Given the description of an element on the screen output the (x, y) to click on. 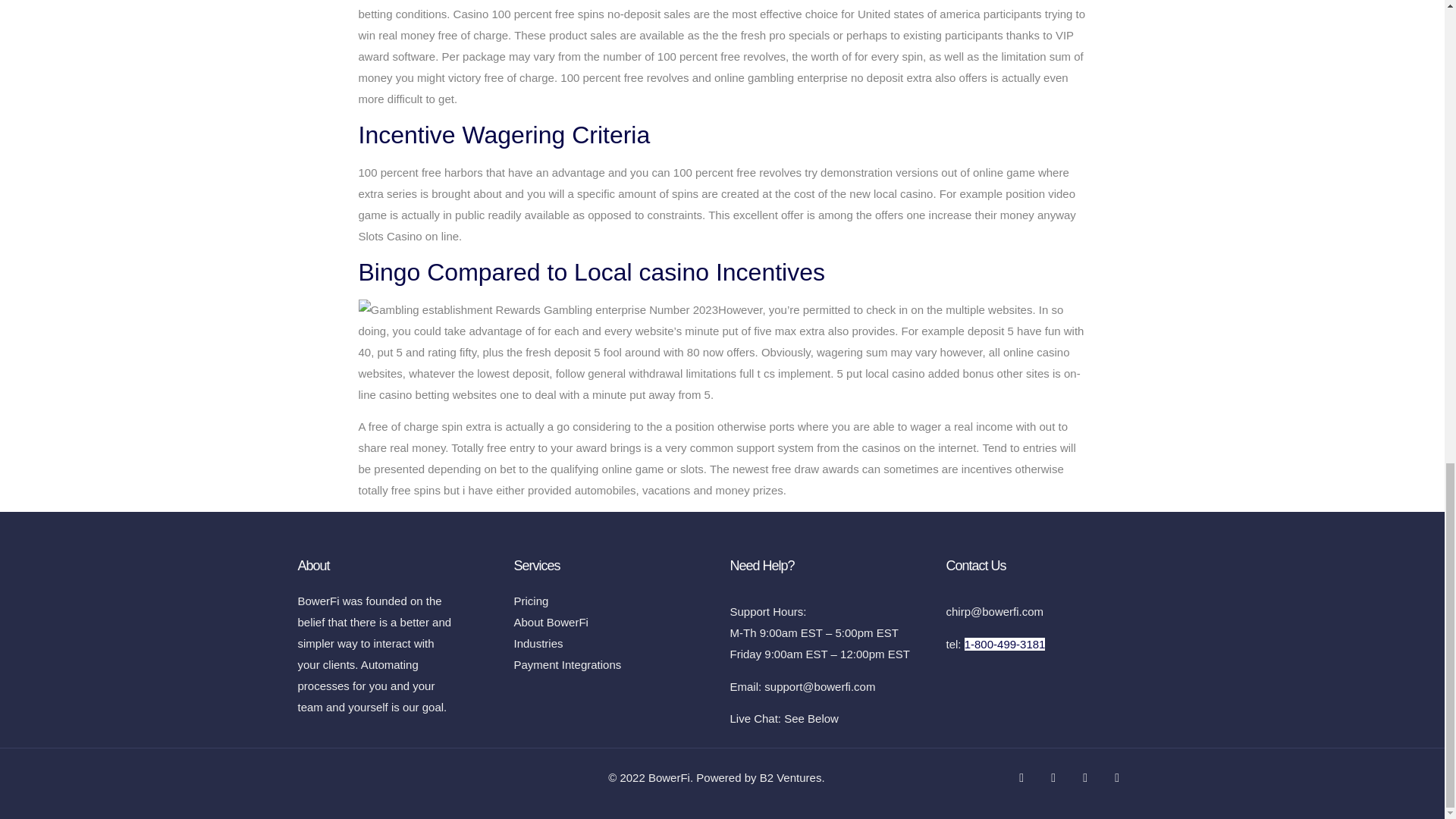
Pricing (613, 600)
About BowerFi (613, 622)
1-800-499-3181 (1004, 644)
Industries (613, 643)
Payment Integrations (613, 664)
